Given the description of an element on the screen output the (x, y) to click on. 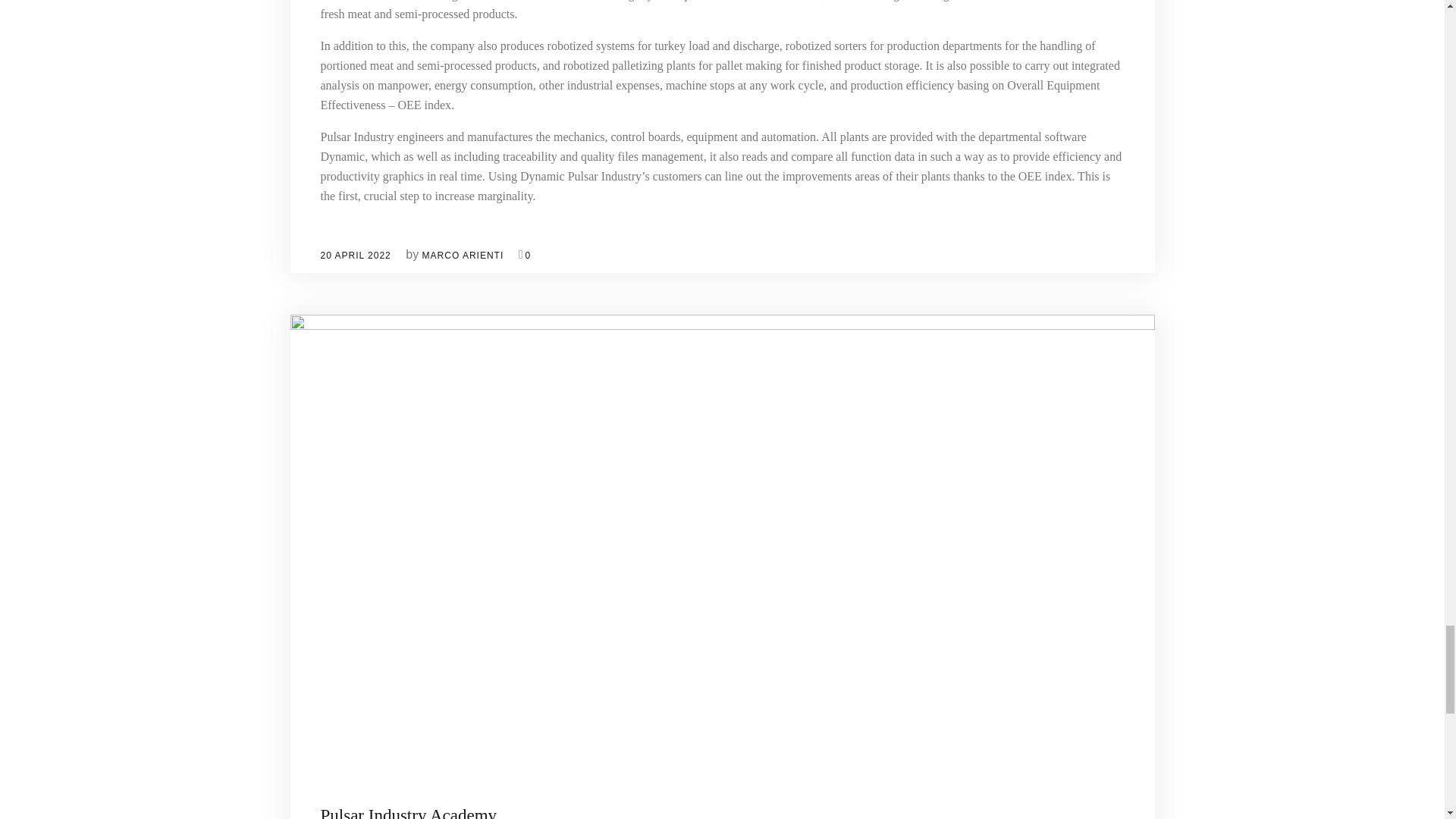
20 APRIL 2022 (355, 255)
Pulsar Industry Academy (408, 812)
MARCO ARIENTI (462, 255)
